Given the description of an element on the screen output the (x, y) to click on. 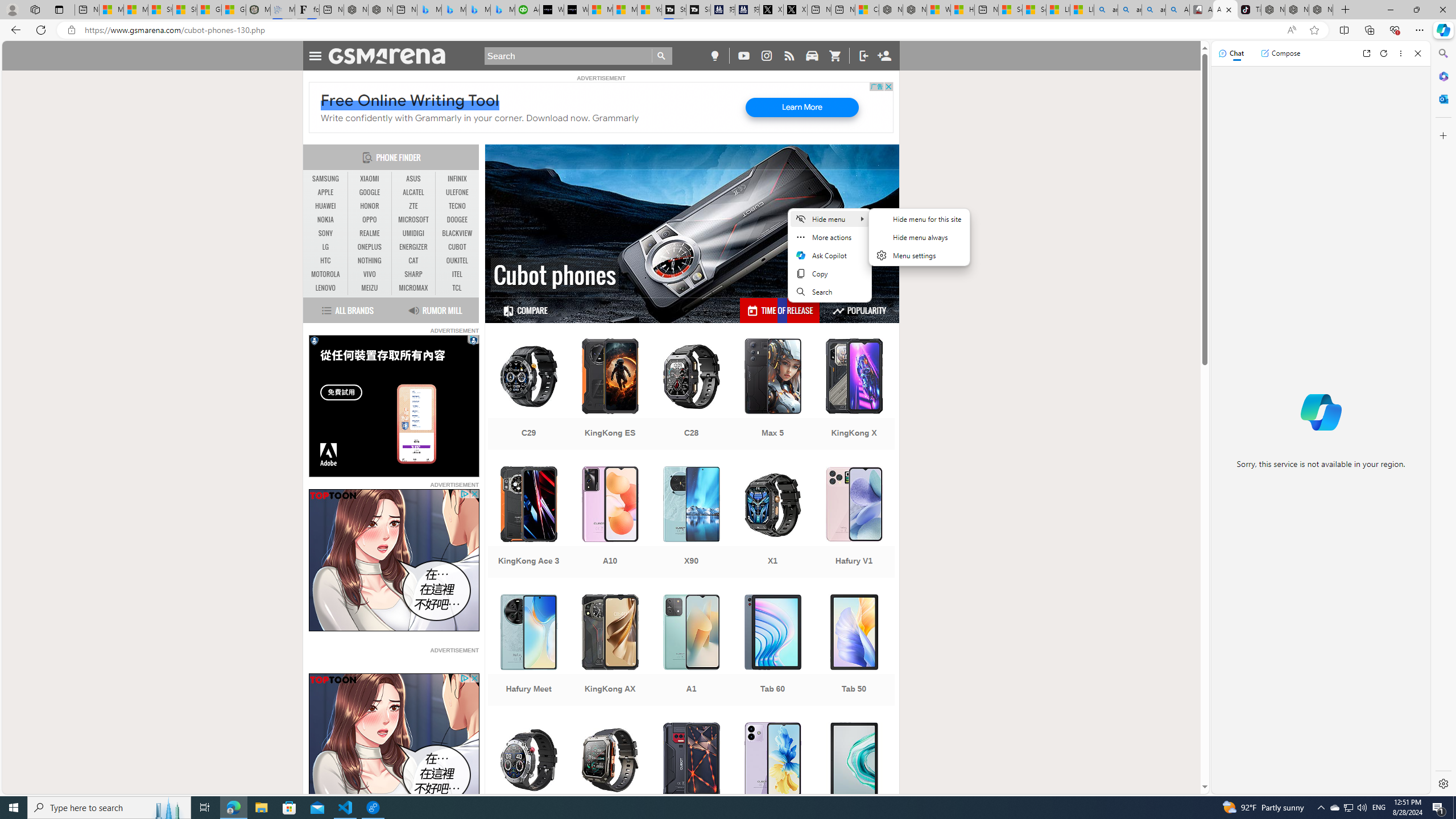
MEIZU (369, 287)
KingKong AX (609, 651)
Wildlife - MSN (938, 9)
ULEFONE (457, 192)
ONEPLUS (369, 246)
Mini menu on text selection (829, 262)
OUKITEL (457, 260)
ALCATEL (413, 192)
Outlook (1442, 98)
